Given the description of an element on the screen output the (x, y) to click on. 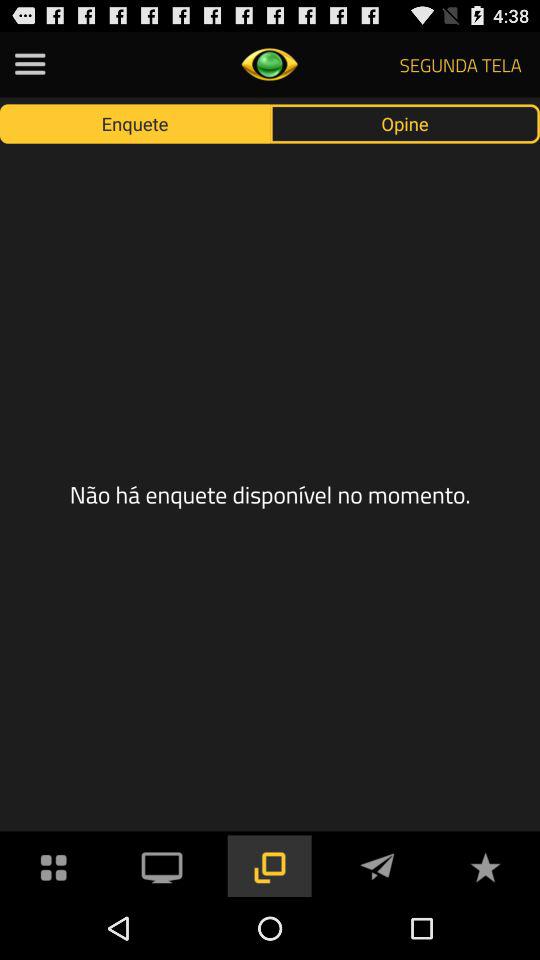
launch the icon to the right of enquete item (405, 123)
